Given the description of an element on the screen output the (x, y) to click on. 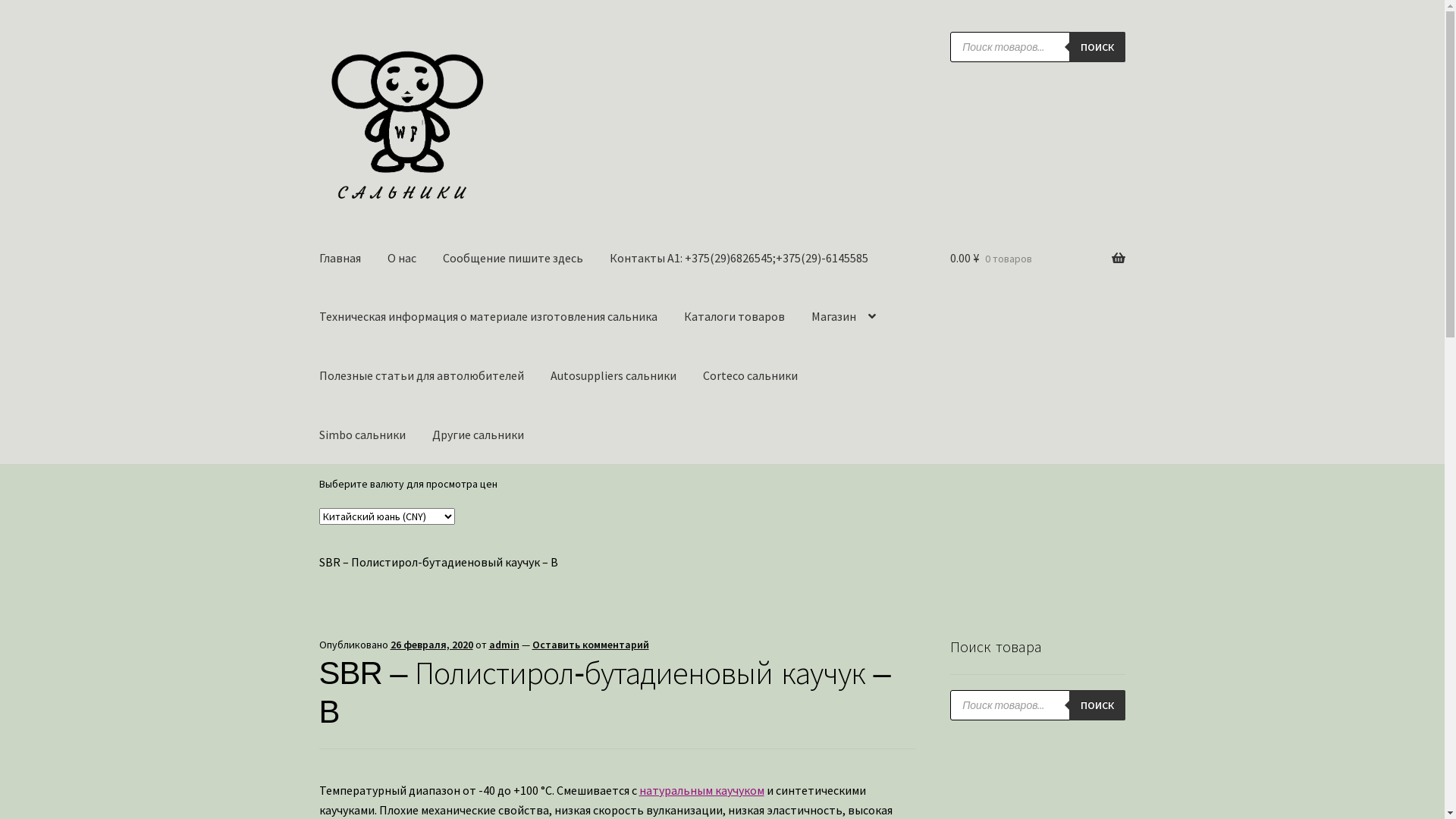
admin Element type: text (504, 644)
